Given the description of an element on the screen output the (x, y) to click on. 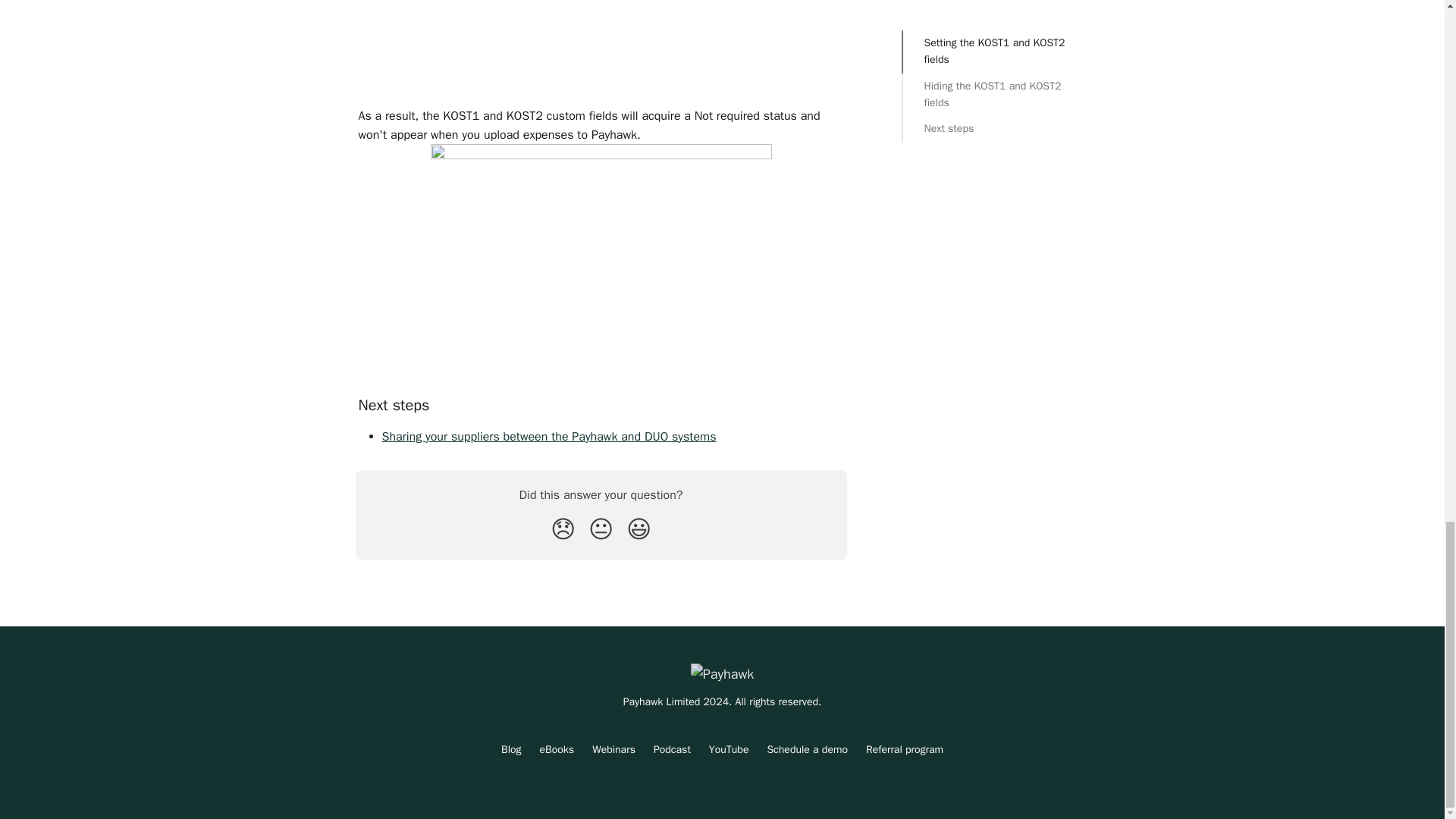
Schedule a demo (807, 748)
Podcast (671, 748)
Blog (510, 748)
Webinars (613, 748)
YouTube (729, 748)
eBooks (557, 748)
Referral program (904, 748)
Sharing your suppliers between the Payhawk and DUO systems (548, 436)
